Given the description of an element on the screen output the (x, y) to click on. 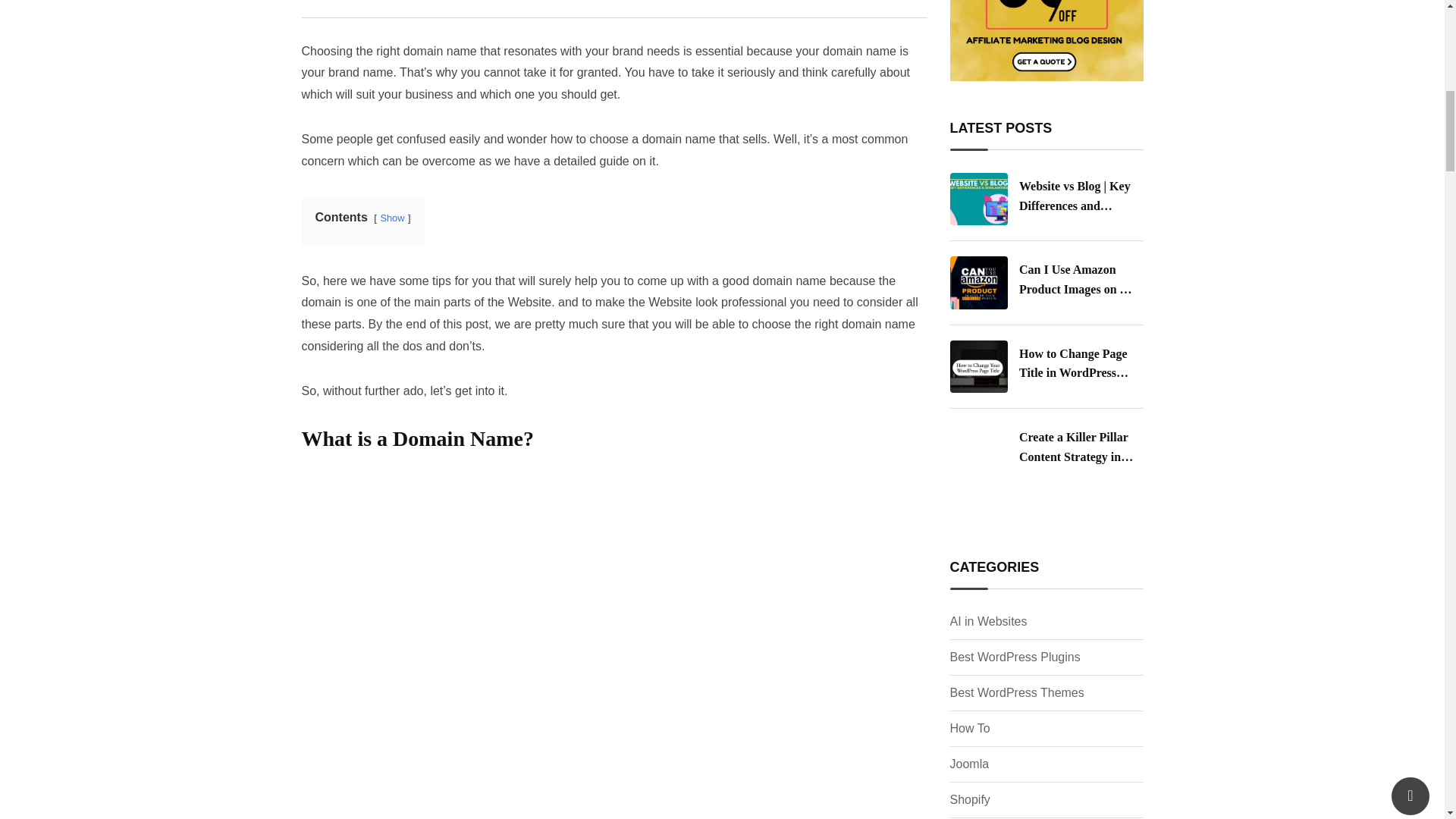
Create a Killer Pillar Content Strategy in just 5 steps (978, 453)
Can I Use Amazon Product Images on My Affiliate Website (978, 282)
How to Change Page Title in WordPress With Just a Few Clicks (978, 366)
